Given the description of an element on the screen output the (x, y) to click on. 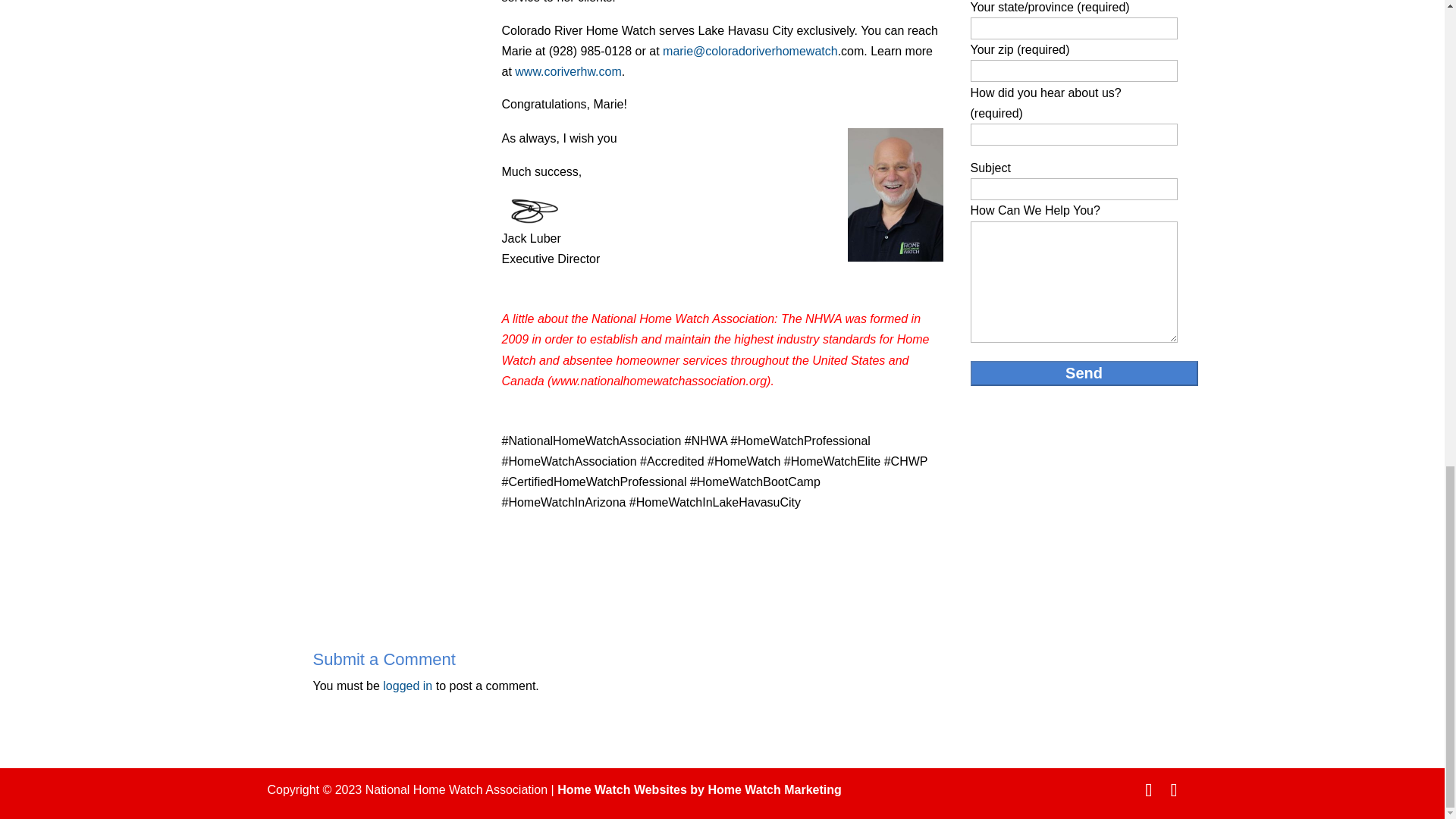
Send (1084, 373)
